Given the description of an element on the screen output the (x, y) to click on. 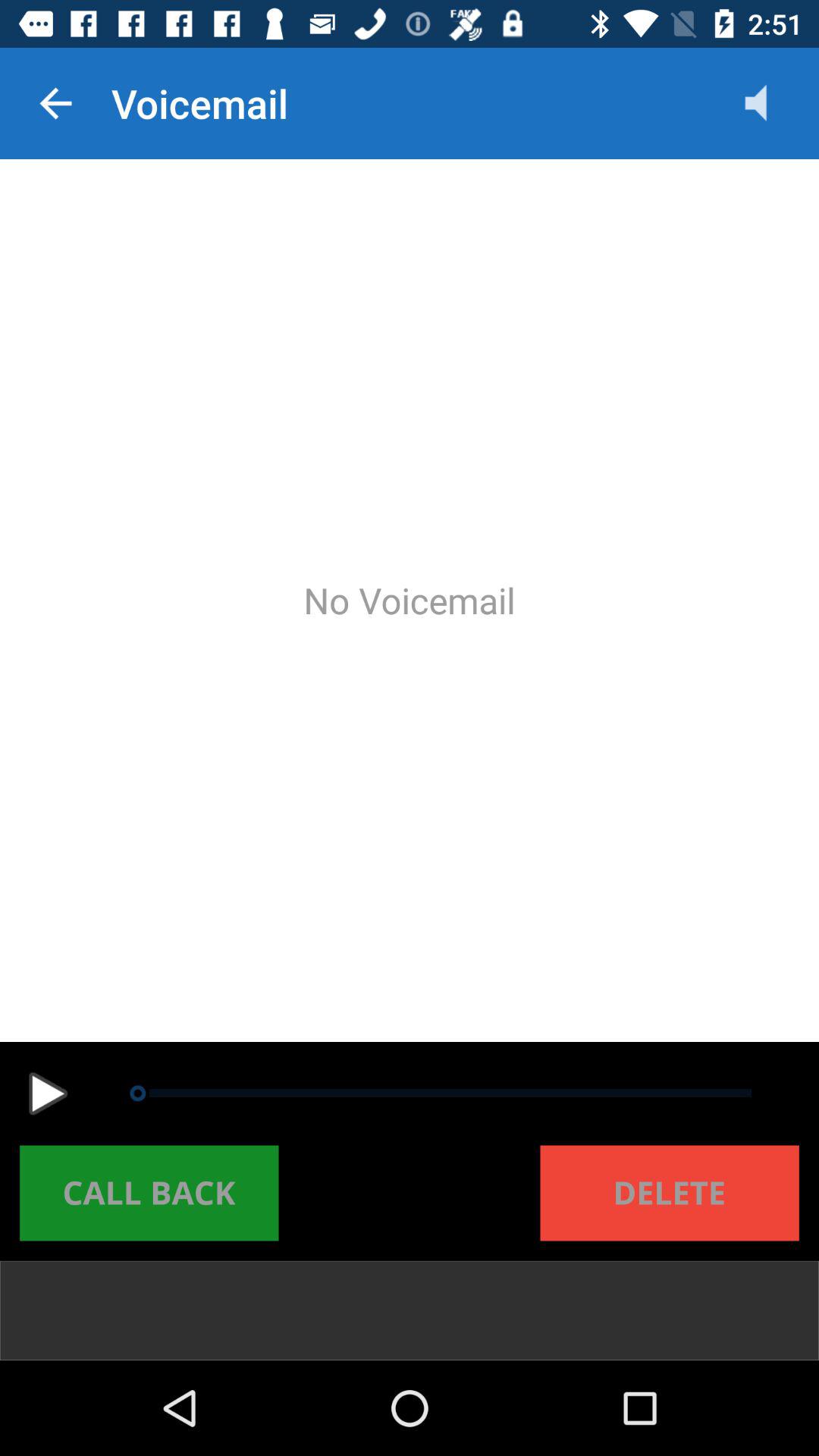
open the item at the top right corner (771, 103)
